Given the description of an element on the screen output the (x, y) to click on. 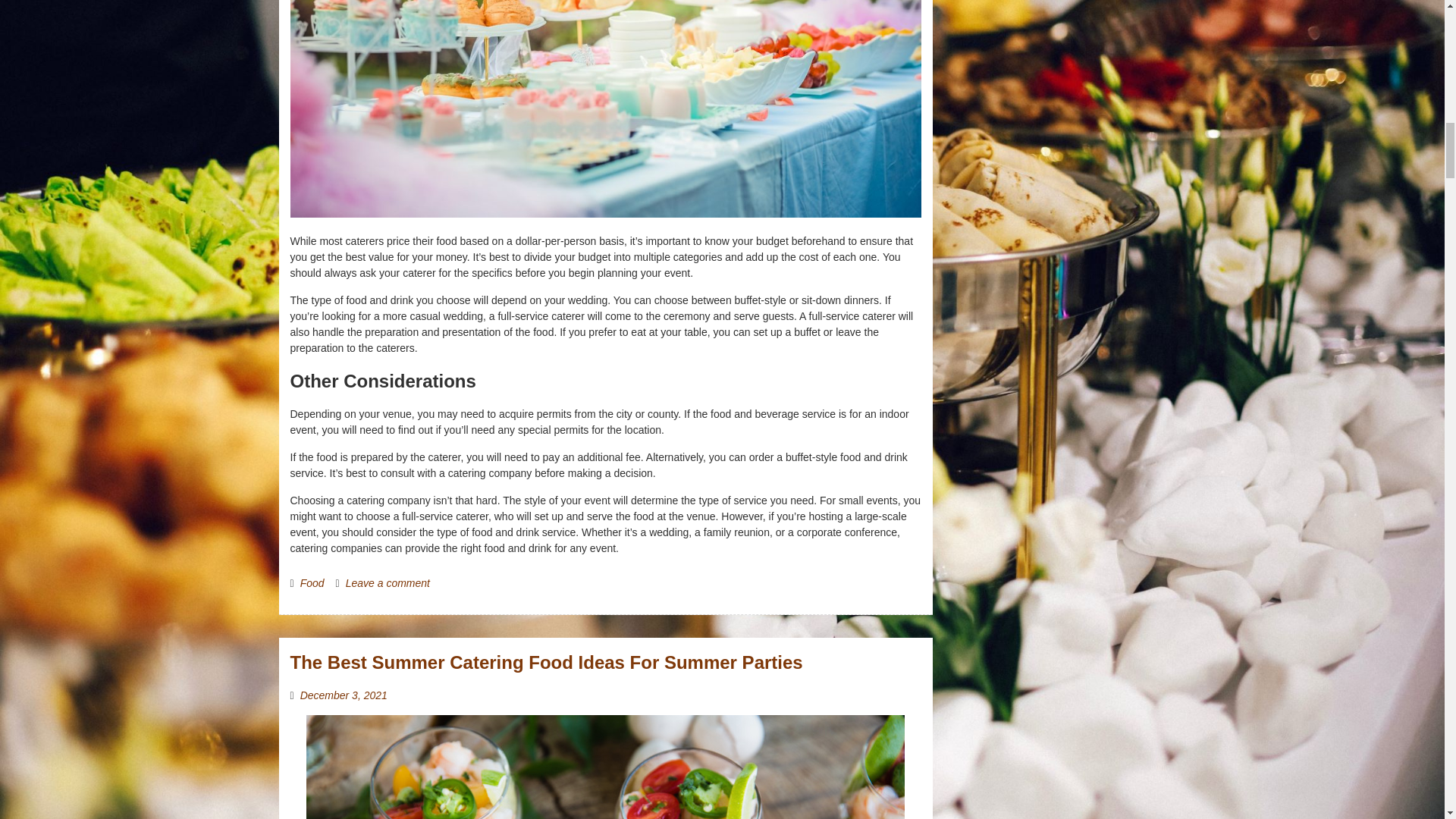
The Best Summer Catering Food Ideas For Summer Parties (545, 661)
Food (311, 582)
December 3, 2021 (343, 695)
Leave a comment (387, 582)
